Given the description of an element on the screen output the (x, y) to click on. 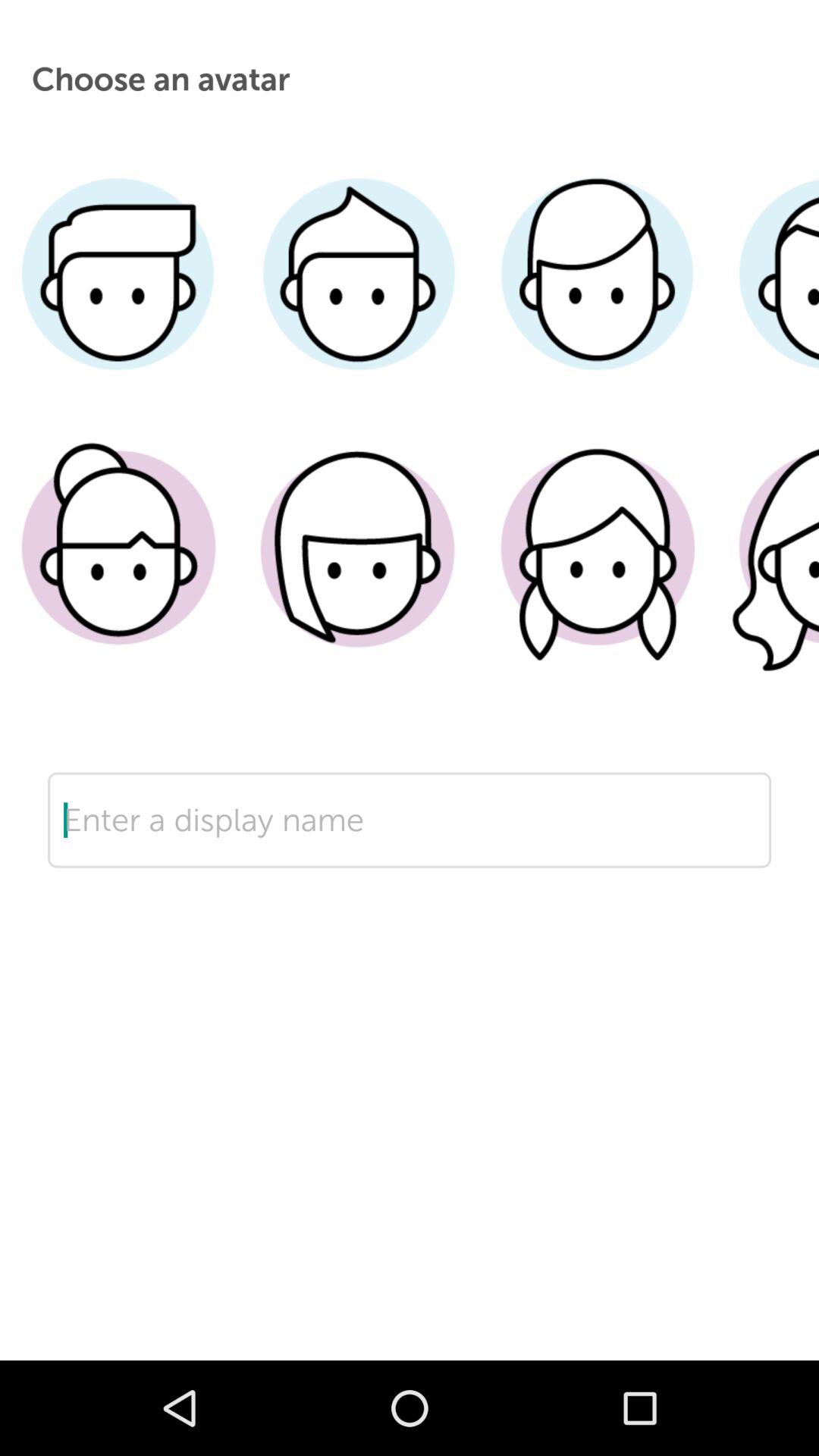
select hair (357, 570)
